Given the description of an element on the screen output the (x, y) to click on. 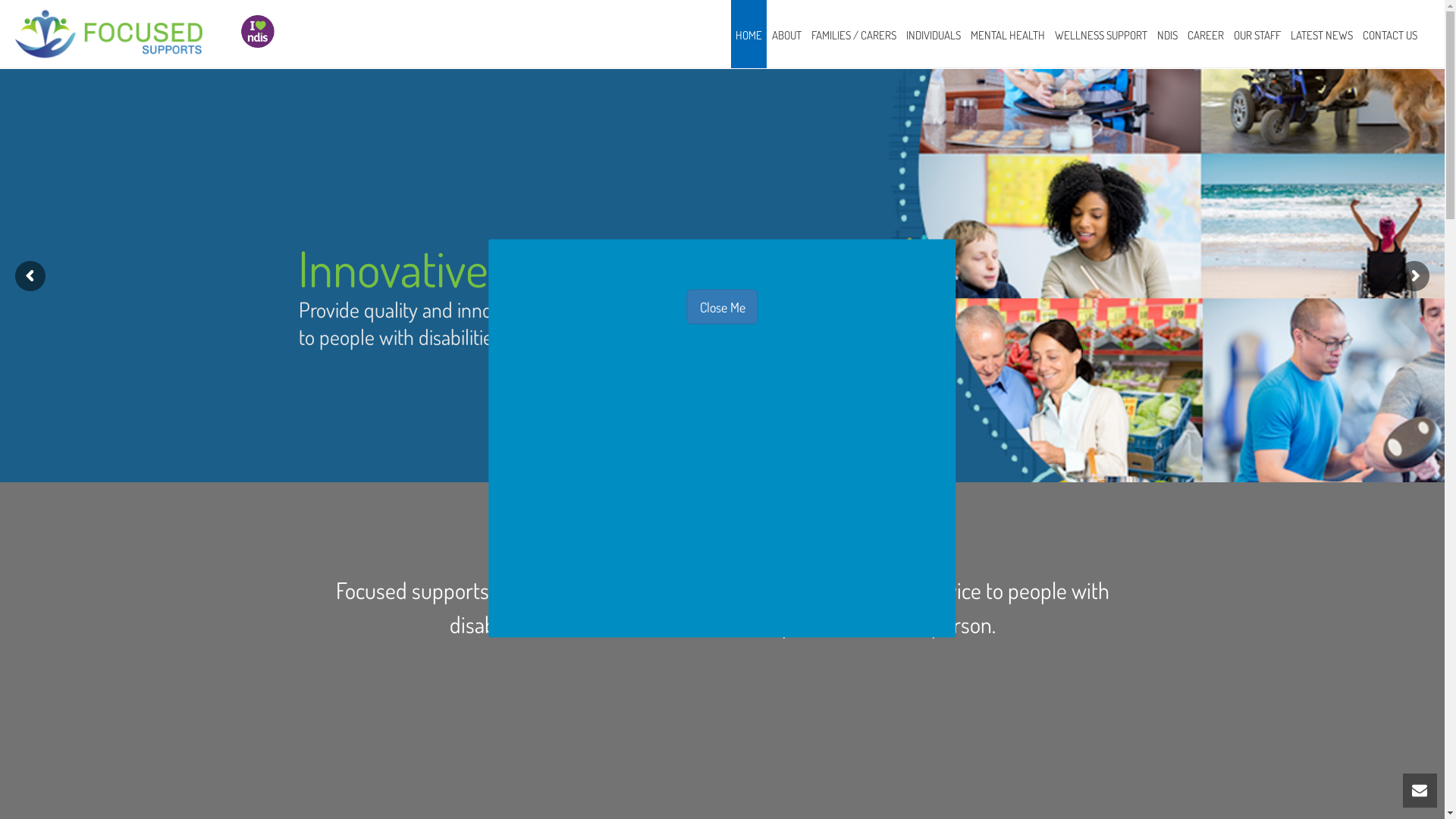
LATEST NEWS Element type: text (1321, 34)
HOME Element type: text (748, 34)
CONTACT US Element type: text (1389, 34)
OUR STAFF Element type: text (1257, 34)
NDIS Element type: text (1167, 34)
WELLNESS SUPPORT Element type: text (1100, 34)
Close Me Element type: text (722, 306)
CAREER Element type: text (1205, 34)
FAMILIES / CARERS Element type: text (853, 34)
INDIVIDUALS Element type: text (933, 34)
ABOUT Element type: text (786, 34)
MENTAL HEALTH Element type: text (1007, 34)
